Given the description of an element on the screen output the (x, y) to click on. 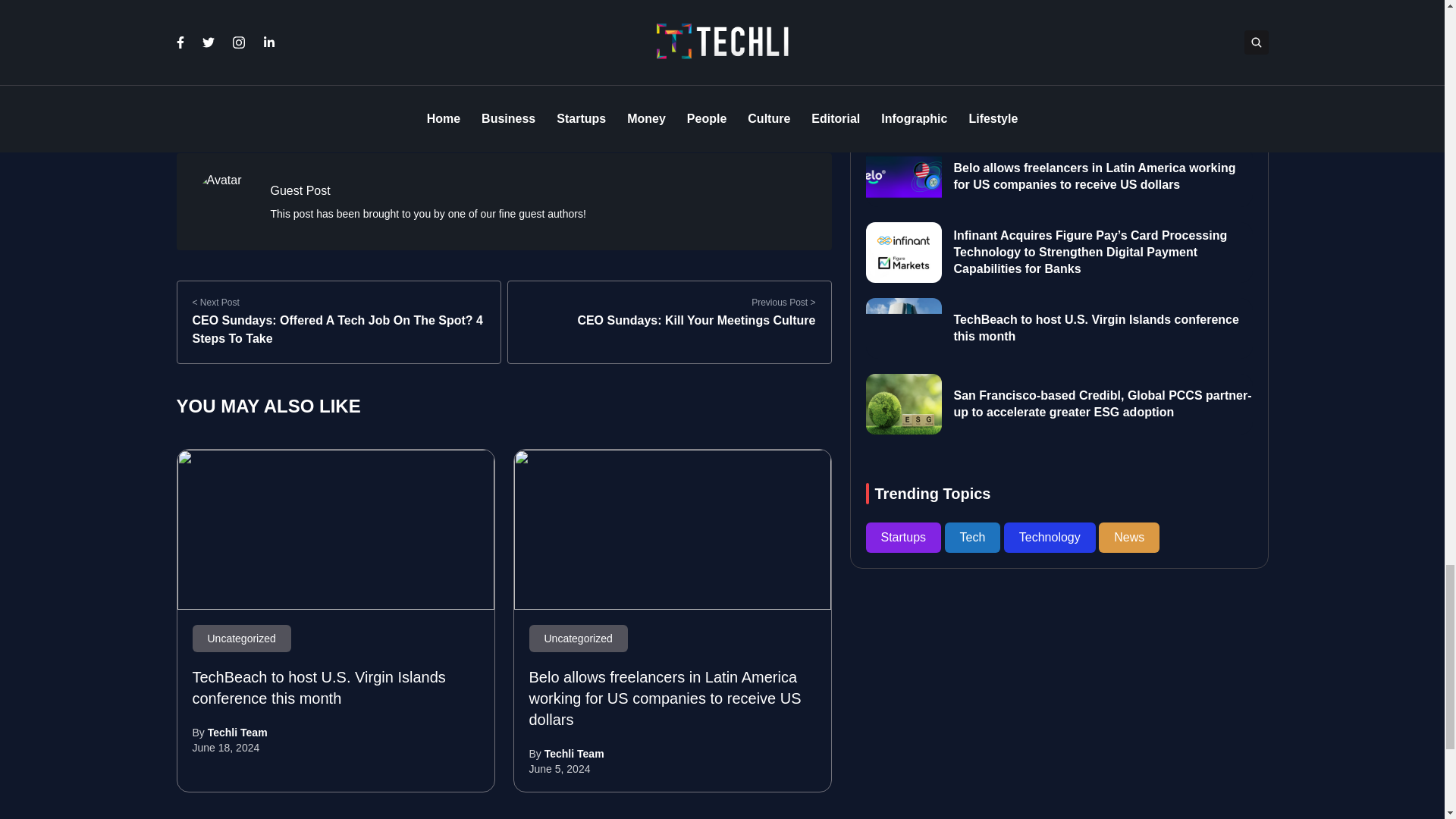
TechBeach to host U.S. Virgin Islands conference this month (336, 529)
Guest Posts (298, 77)
CEO Sundays (216, 77)
